Given the description of an element on the screen output the (x, y) to click on. 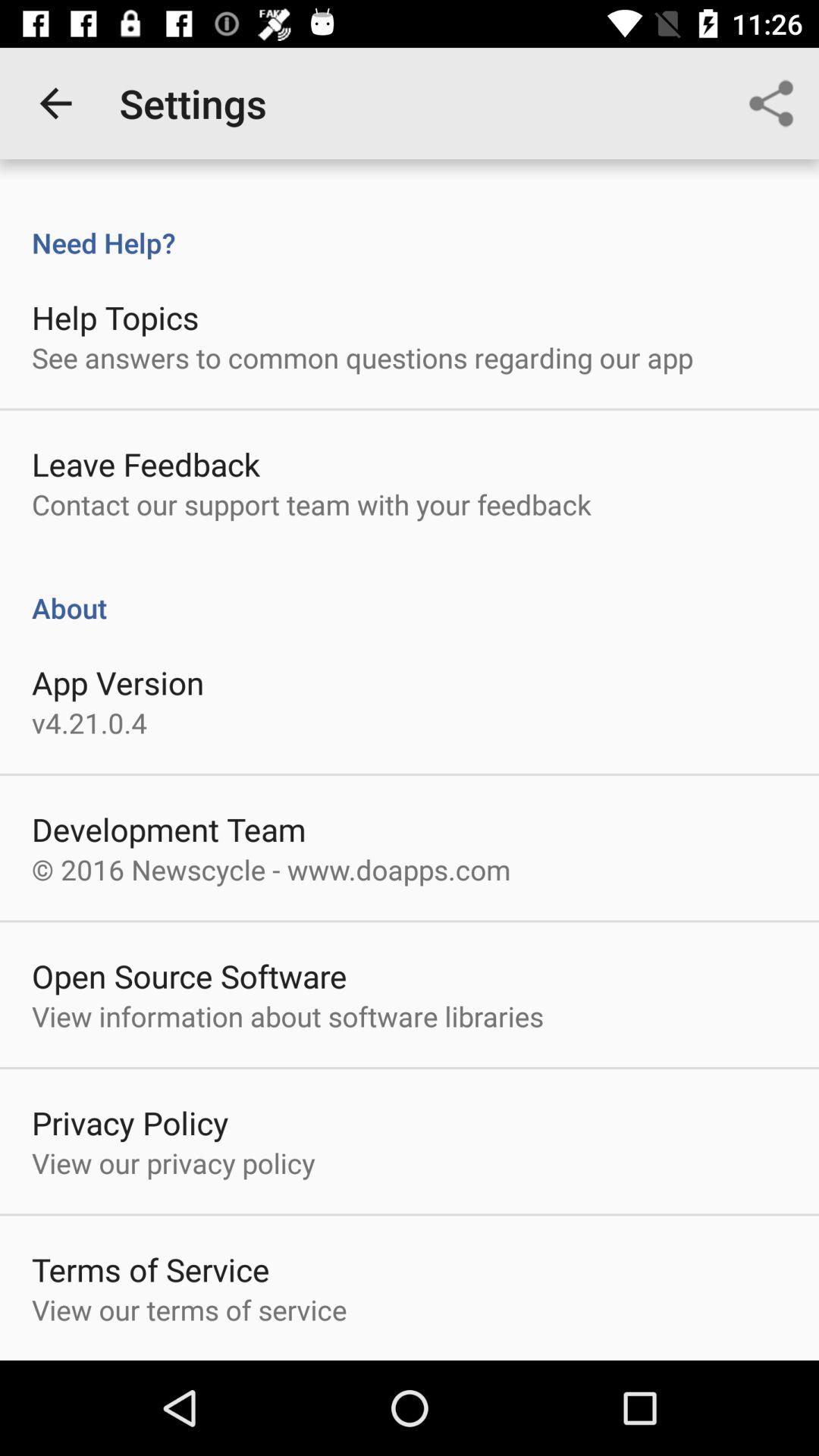
tap icon at the top right corner (771, 103)
